Given the description of an element on the screen output the (x, y) to click on. 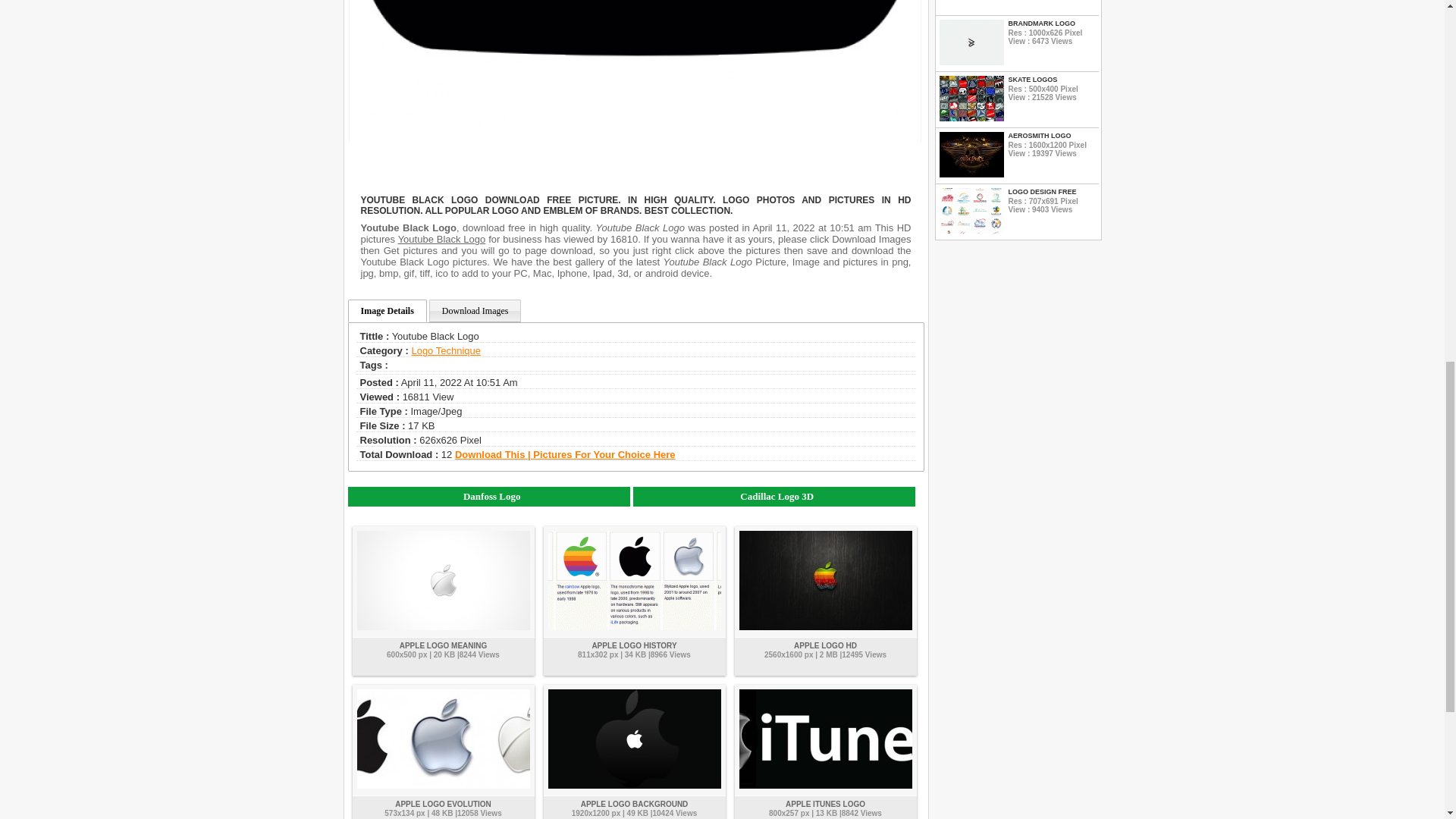
Logo Technique (445, 350)
BRANDMARK LOGO (1051, 23)
Danfoss Logo (487, 496)
SKATE LOGOS (1051, 79)
APPLE LOGO EVOLUTION (443, 804)
APPLE LOGO HD (825, 645)
APPLE LOGO BACKGROUND (634, 804)
Cadillac Logo 3D (774, 496)
APPLE LOGO HISTORY (634, 645)
Youtube Black Logo Wallpaper (634, 72)
